Given the description of an element on the screen output the (x, y) to click on. 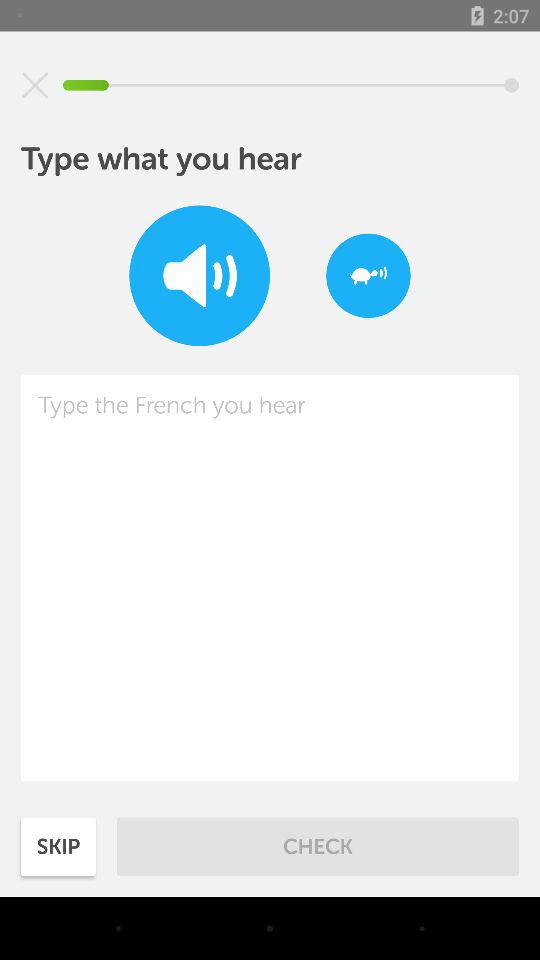
open icon to the left of check (58, 846)
